Given the description of an element on the screen output the (x, y) to click on. 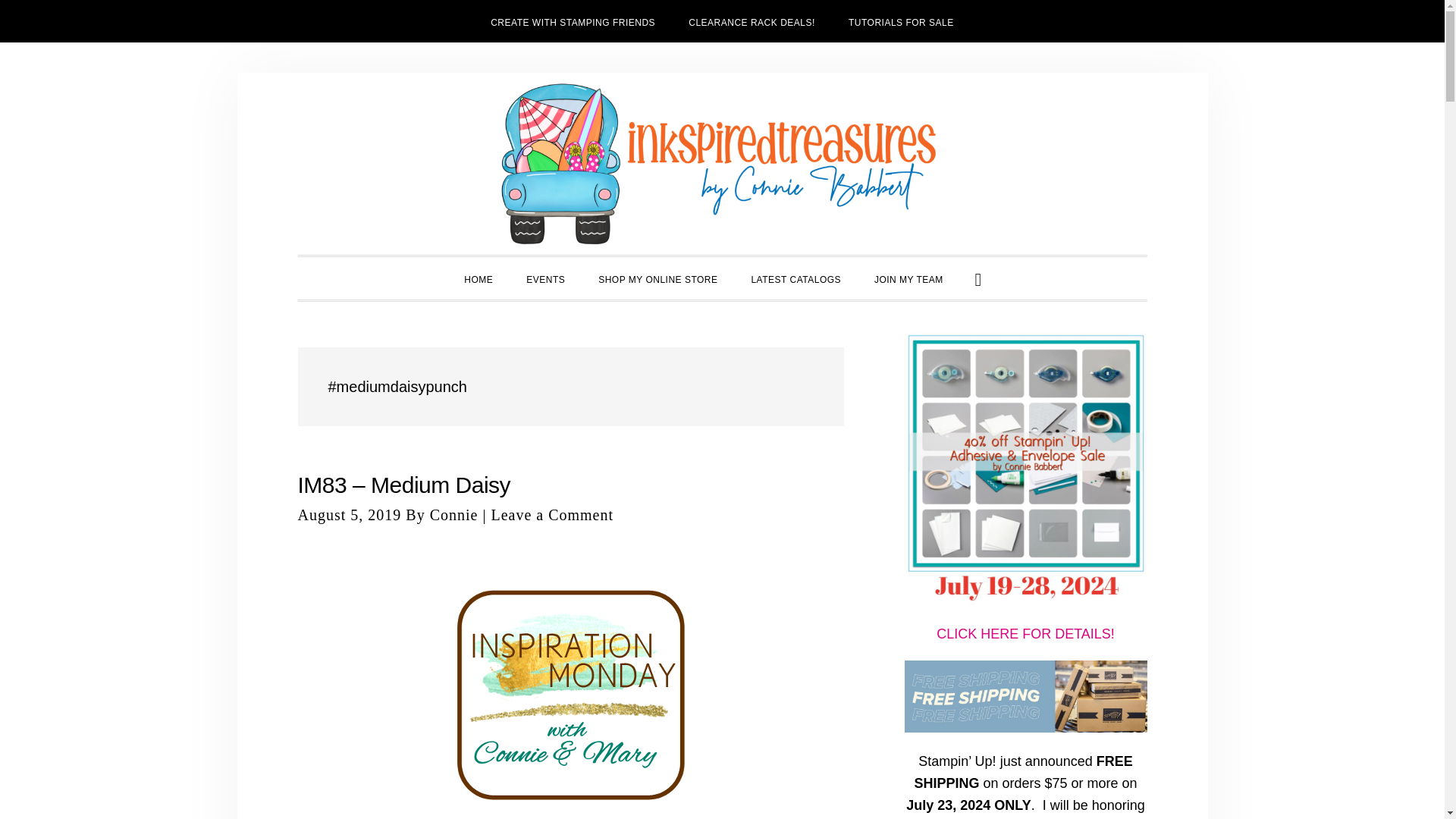
Connie (454, 514)
HOME (478, 278)
CLEARANCE RACK DEALS! (750, 21)
JOIN MY TEAM (908, 278)
CLICK HERE FOR DETAILS! (1025, 633)
Leave a Comment (551, 514)
CREATE WITH STAMPING FRIENDS (572, 21)
SHOP MY ONLINE STORE (657, 278)
EVENTS (545, 278)
TUTORIALS FOR SALE (900, 21)
LATEST CATALOGS (795, 278)
